Given the description of an element on the screen output the (x, y) to click on. 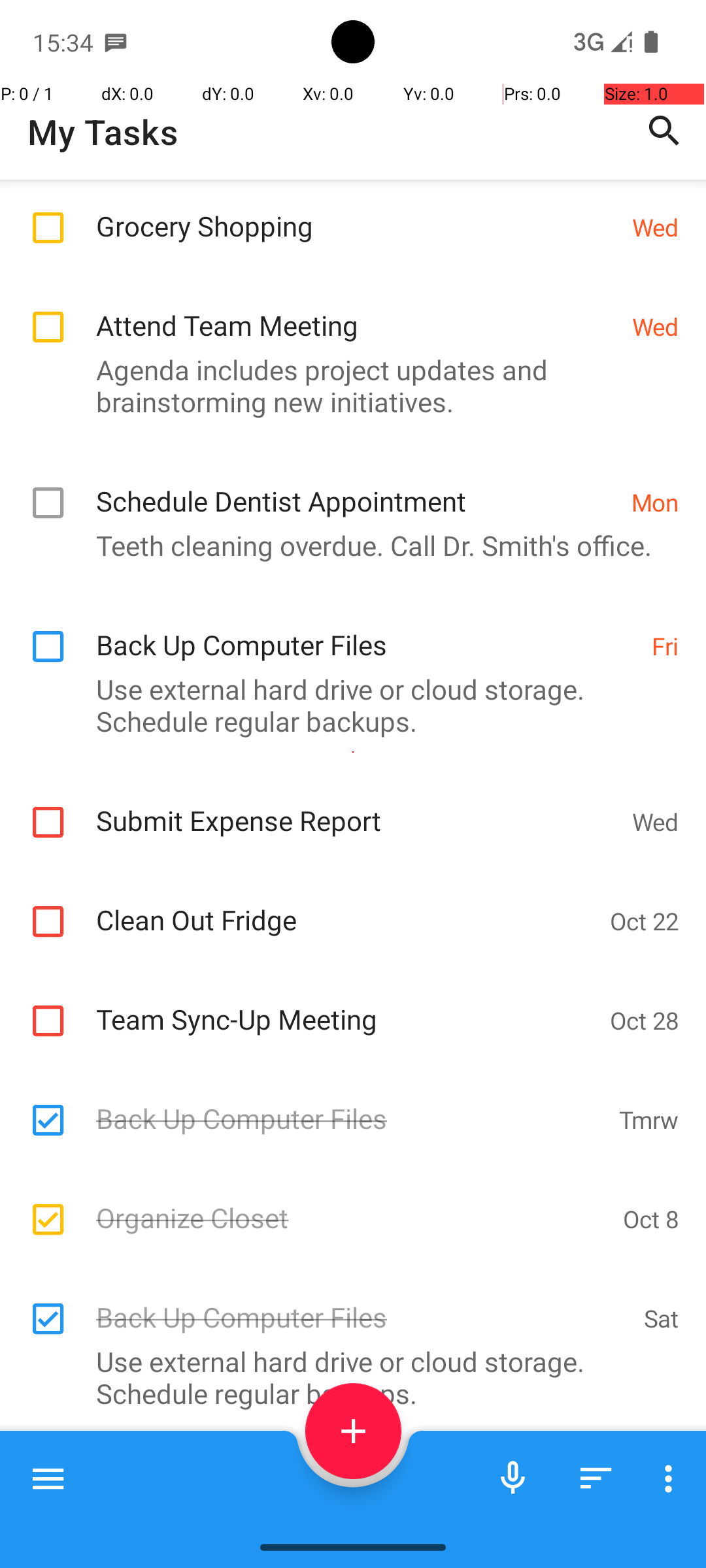
Attend Team Meeting Element type: android.widget.TextView (357, 310)
Agenda includes project updates and brainstorming new initiatives. Element type: android.widget.TextView (346, 385)
Schedule Dentist Appointment Element type: android.widget.TextView (356, 486)
Teeth cleaning overdue. Call Dr. Smith's office. Element type: android.widget.TextView (346, 544)
Back Up Computer Files Element type: android.widget.TextView (367, 630)
Use external hard drive or cloud storage. Schedule regular backups. Element type: android.widget.TextView (346, 704)
Clean Out Fridge Element type: android.widget.TextView (346, 905)
Oct 22 Element type: android.widget.TextView (644, 920)
Team Sync-Up Meeting Element type: android.widget.TextView (346, 1004)
Oct 28 Element type: android.widget.TextView (644, 1019)
Organize Closet Element type: android.widget.TextView (352, 1203)
Oct 8 Element type: android.widget.TextView (650, 1218)
Sat Element type: android.widget.TextView (661, 1317)
Donate old clothes and shoes. Put winter clothes in storage. Element type: android.widget.TextView (346, 1522)
